Given the description of an element on the screen output the (x, y) to click on. 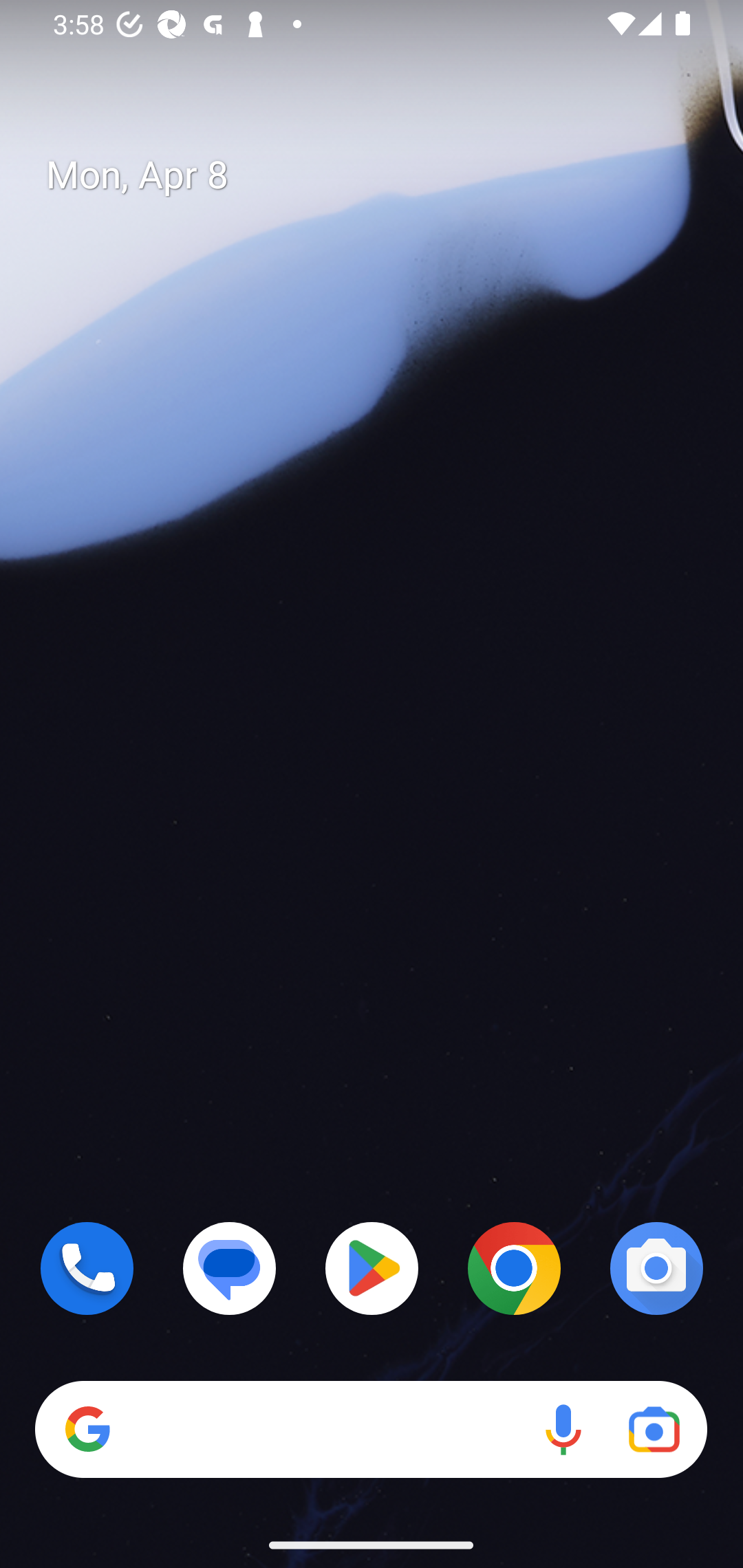
Mon, Apr 8 (386, 175)
Phone (86, 1268)
Messages (229, 1268)
Play Store (371, 1268)
Chrome (513, 1268)
Camera (656, 1268)
Search Voice search Google Lens (370, 1429)
Voice search (562, 1429)
Google Lens (653, 1429)
